Given the description of an element on the screen output the (x, y) to click on. 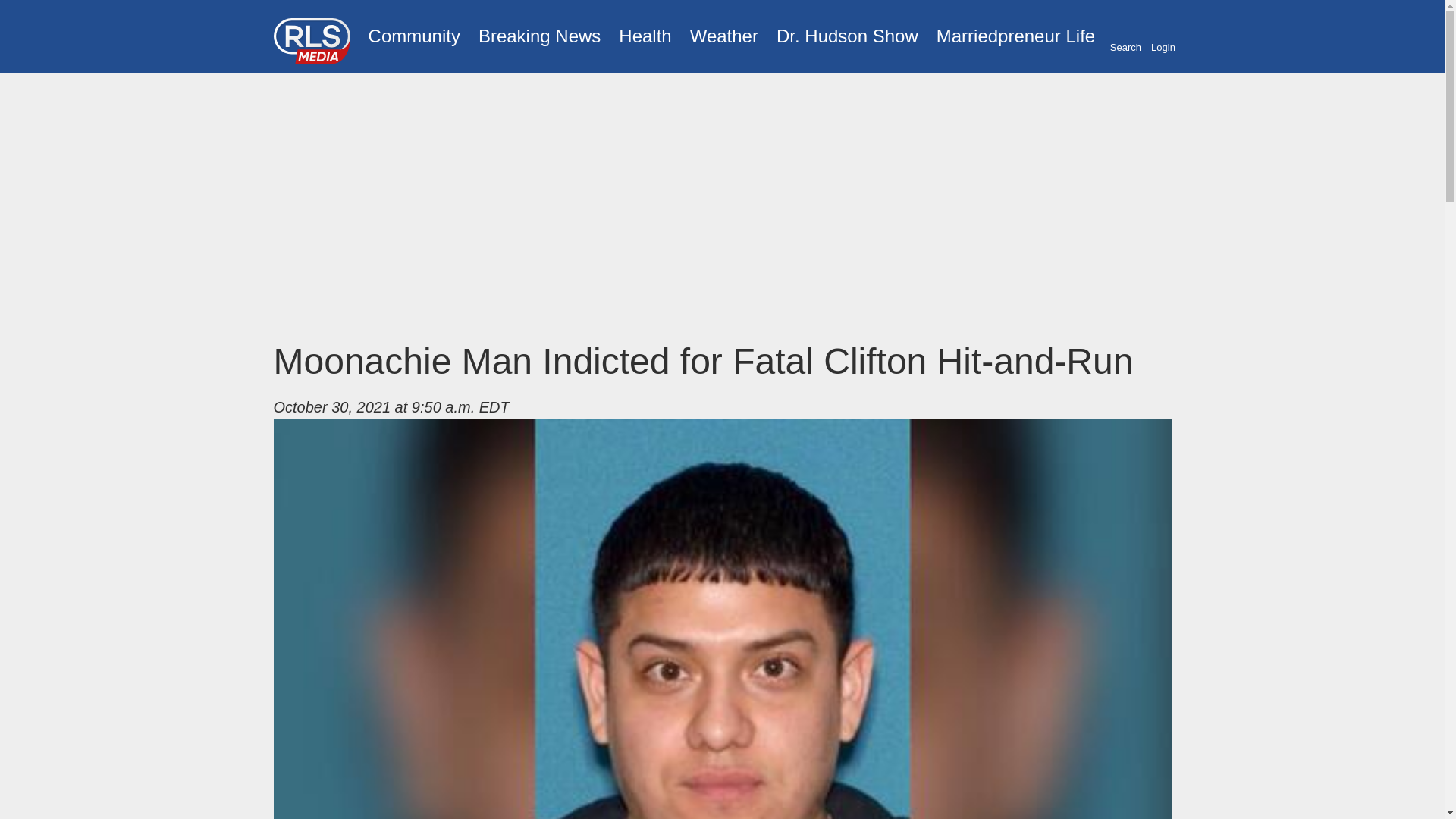
Community (413, 36)
Local Weather (724, 36)
Health News (644, 36)
Search (1125, 37)
Weather (724, 36)
Dr. Hudson Show (847, 36)
Flying on Broken Dreams (847, 36)
Community News (413, 36)
